Given the description of an element on the screen output the (x, y) to click on. 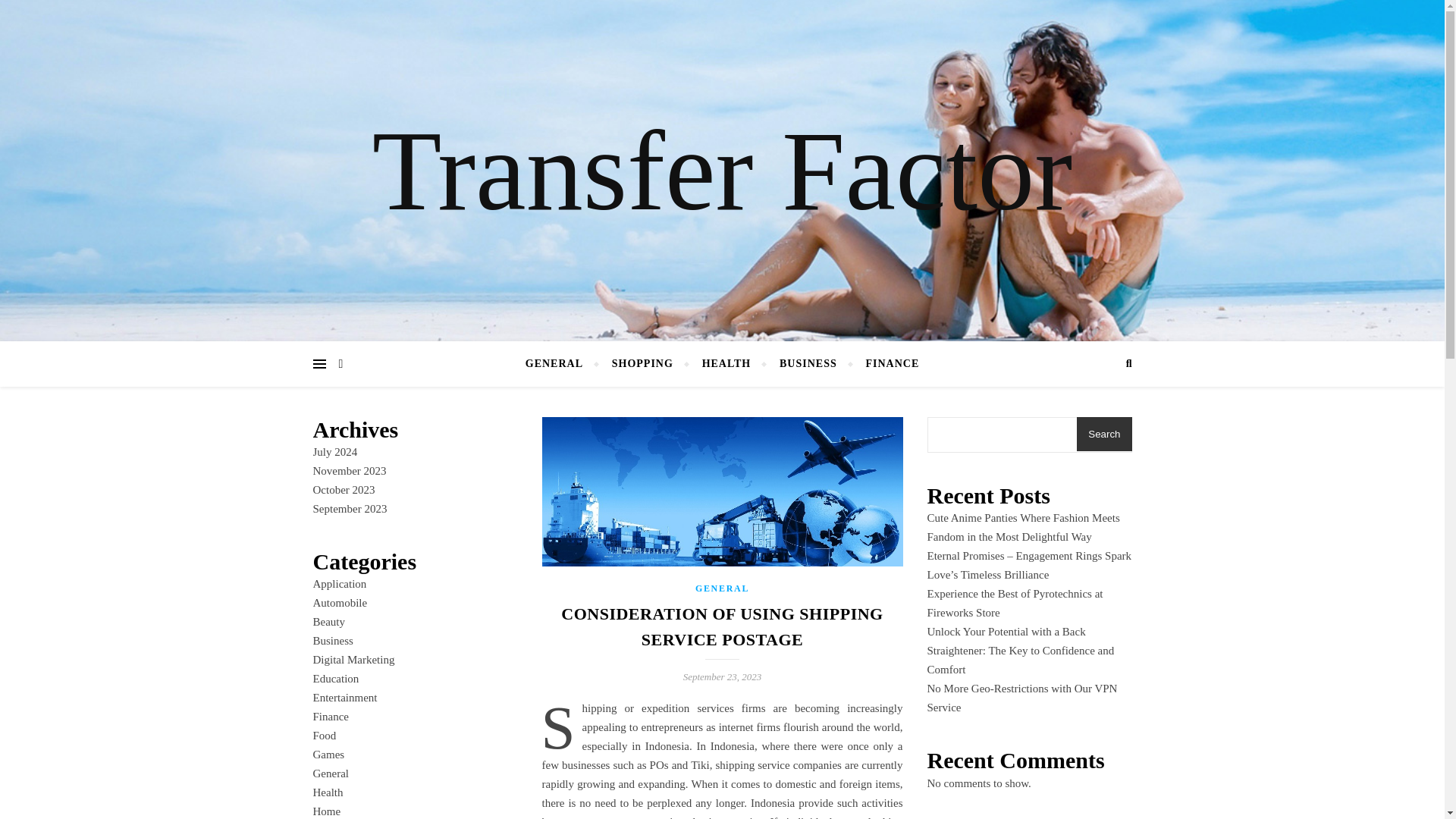
SHOPPING (641, 363)
Business (332, 640)
Food (324, 735)
BUSINESS (808, 363)
Education (335, 678)
FINANCE (884, 363)
Beauty (329, 621)
Health (327, 792)
October 2023 (343, 490)
HEALTH (726, 363)
